Given the description of an element on the screen output the (x, y) to click on. 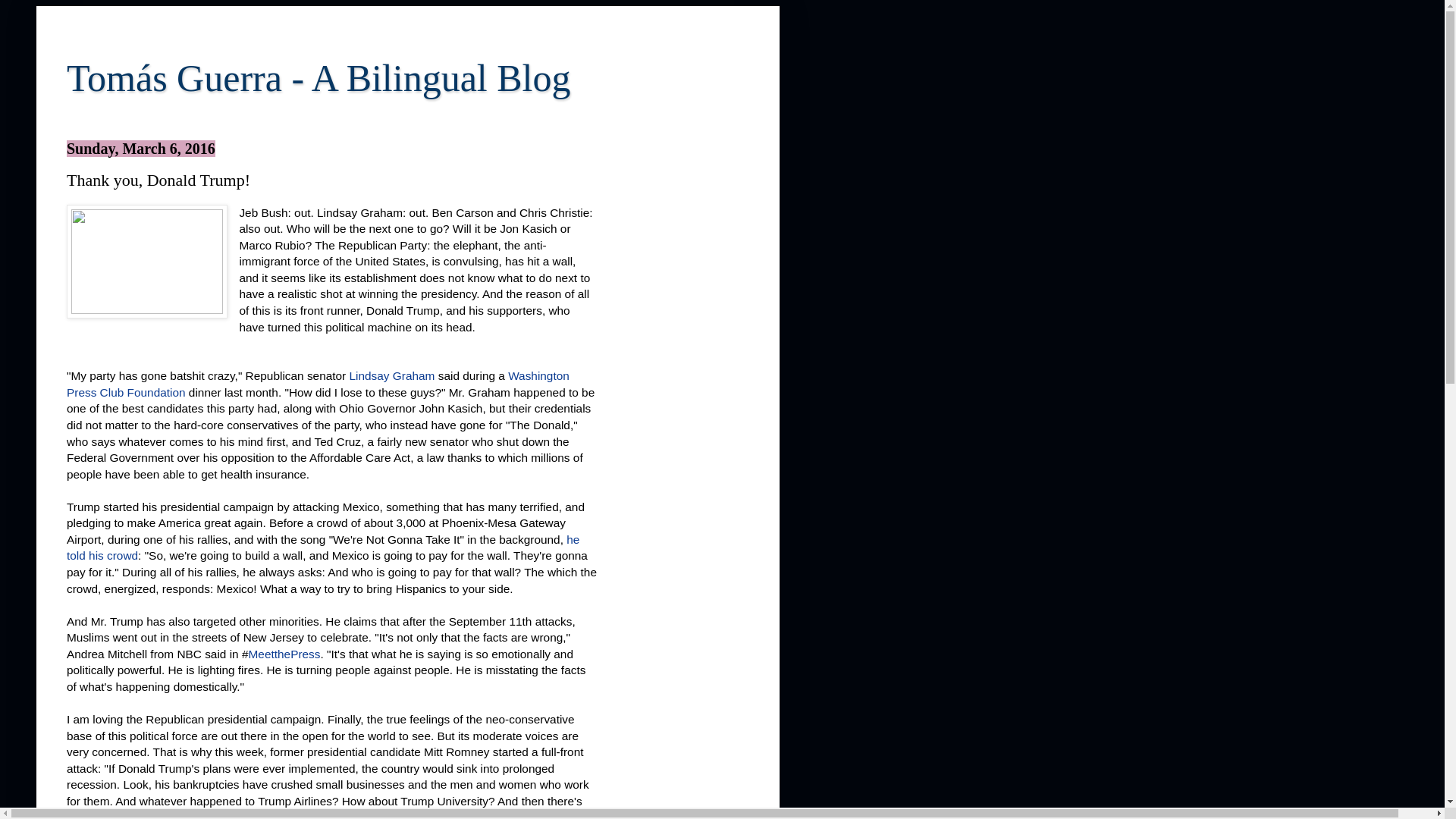
Lindsay Graham (392, 375)
Washington Press Club Foundation (317, 383)
MeetthePress (284, 653)
he told his crowd (322, 547)
